Given the description of an element on the screen output the (x, y) to click on. 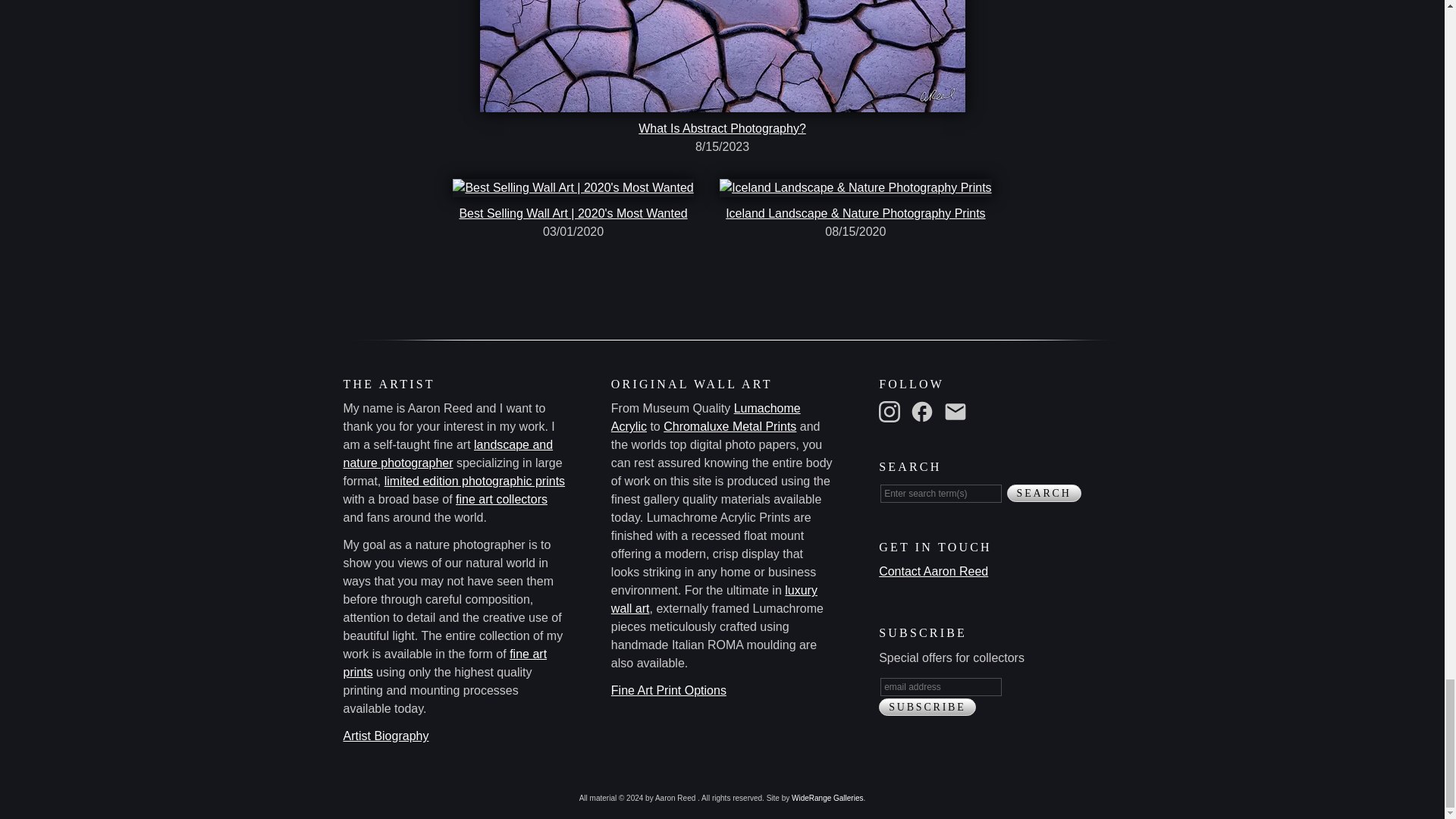
Follow on Instagram (892, 410)
Subscribe (927, 706)
Follow on Instagram (889, 411)
Follow on Facebook (925, 410)
Email (958, 410)
